Given the description of an element on the screen output the (x, y) to click on. 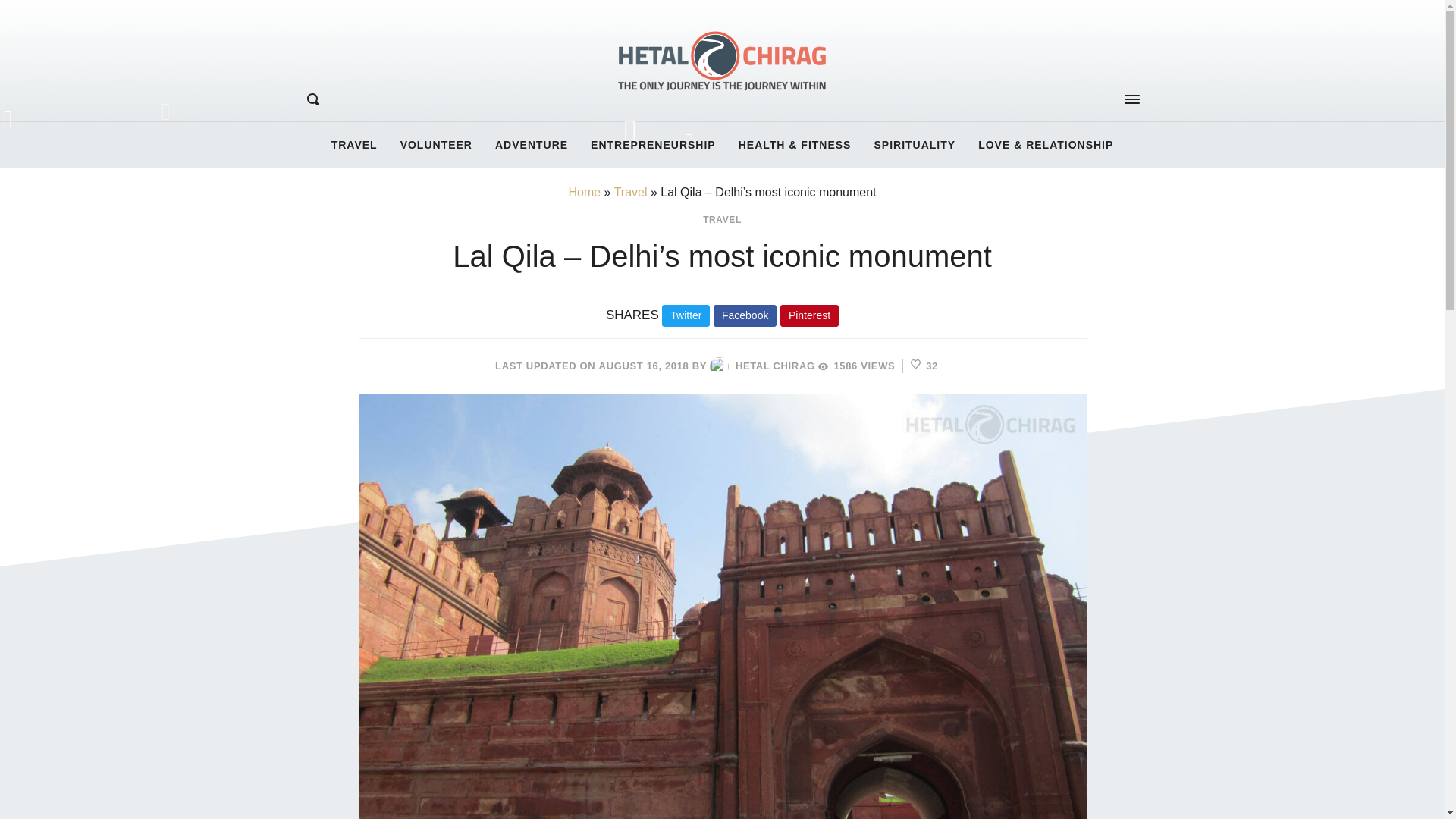
Pinterest (809, 315)
VOLUNTEER (435, 144)
SPIRITUALITY (913, 144)
ADVENTURE (531, 144)
Facebook (744, 315)
Share this post on Twitter. (686, 315)
ENTREPRENEURSHIP (652, 144)
TRAVEL (354, 144)
TRAVEL (722, 219)
Like (924, 365)
 HETAL CHIRAG (761, 366)
Twitter (686, 315)
1586 VIEWS (856, 365)
Share this post on Facebook. (744, 315)
